Given the description of an element on the screen output the (x, y) to click on. 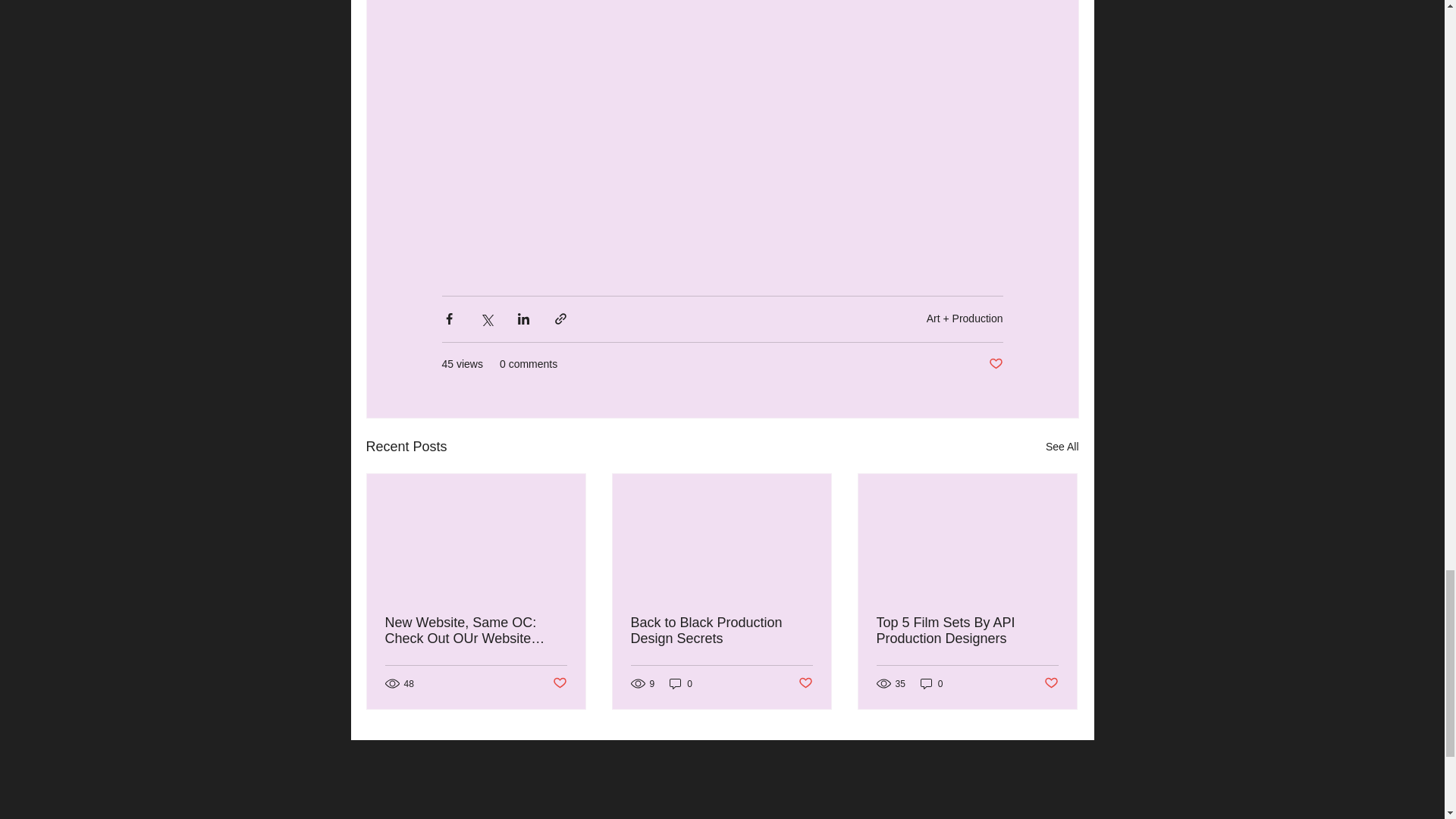
Post not marked as liked (995, 364)
See All (1061, 446)
Post not marked as liked (558, 683)
